Given the description of an element on the screen output the (x, y) to click on. 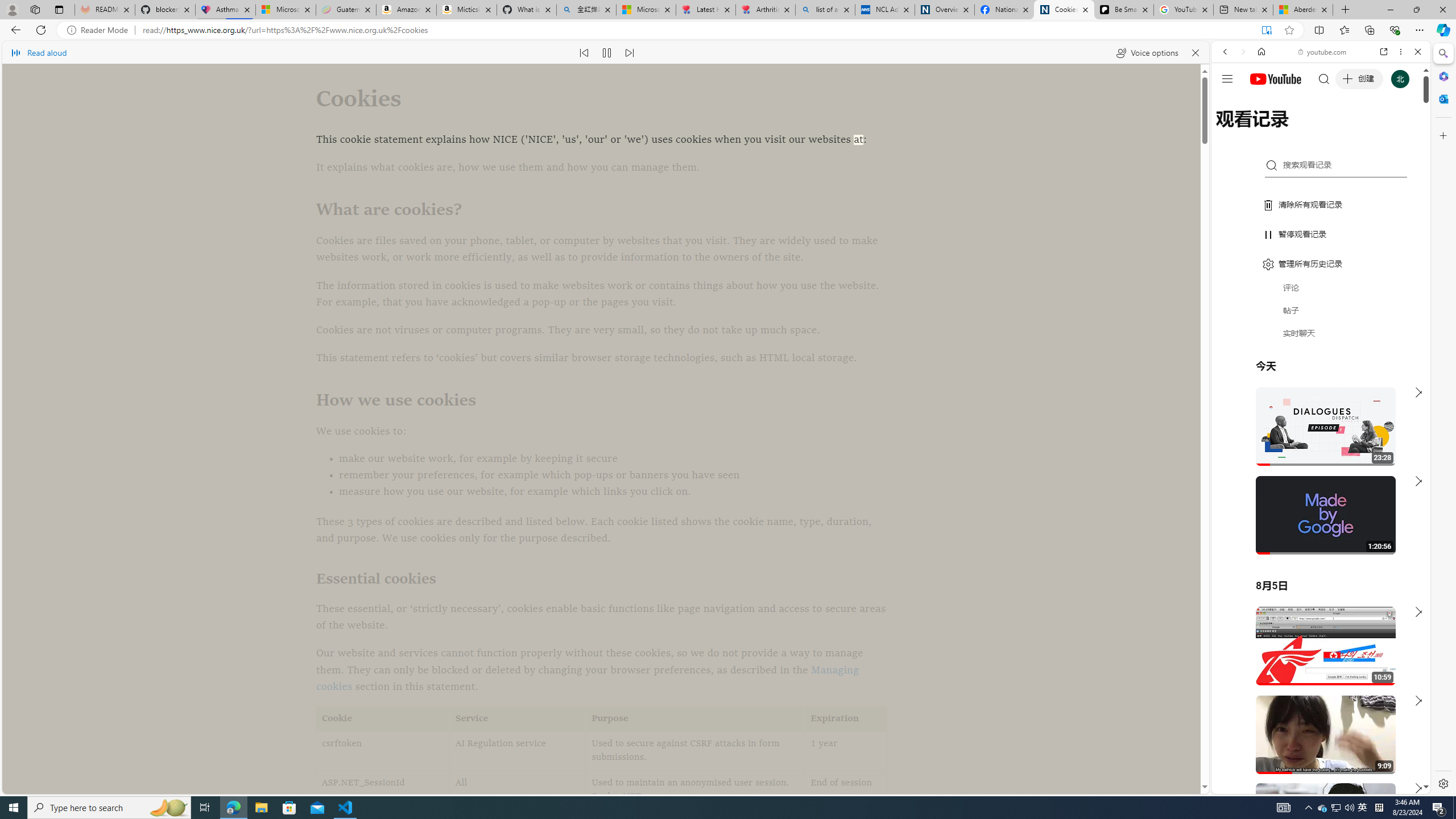
Asthma Inhalers: Names and Types (225, 9)
End of session (844, 790)
YouTube (1315, 655)
you (1315, 755)
Read next paragraph (628, 52)
Arthritis: Ask Health Professionals (765, 9)
make our website work, for example by keeping it secure (601, 458)
Close read aloud (1195, 52)
